Given the description of an element on the screen output the (x, y) to click on. 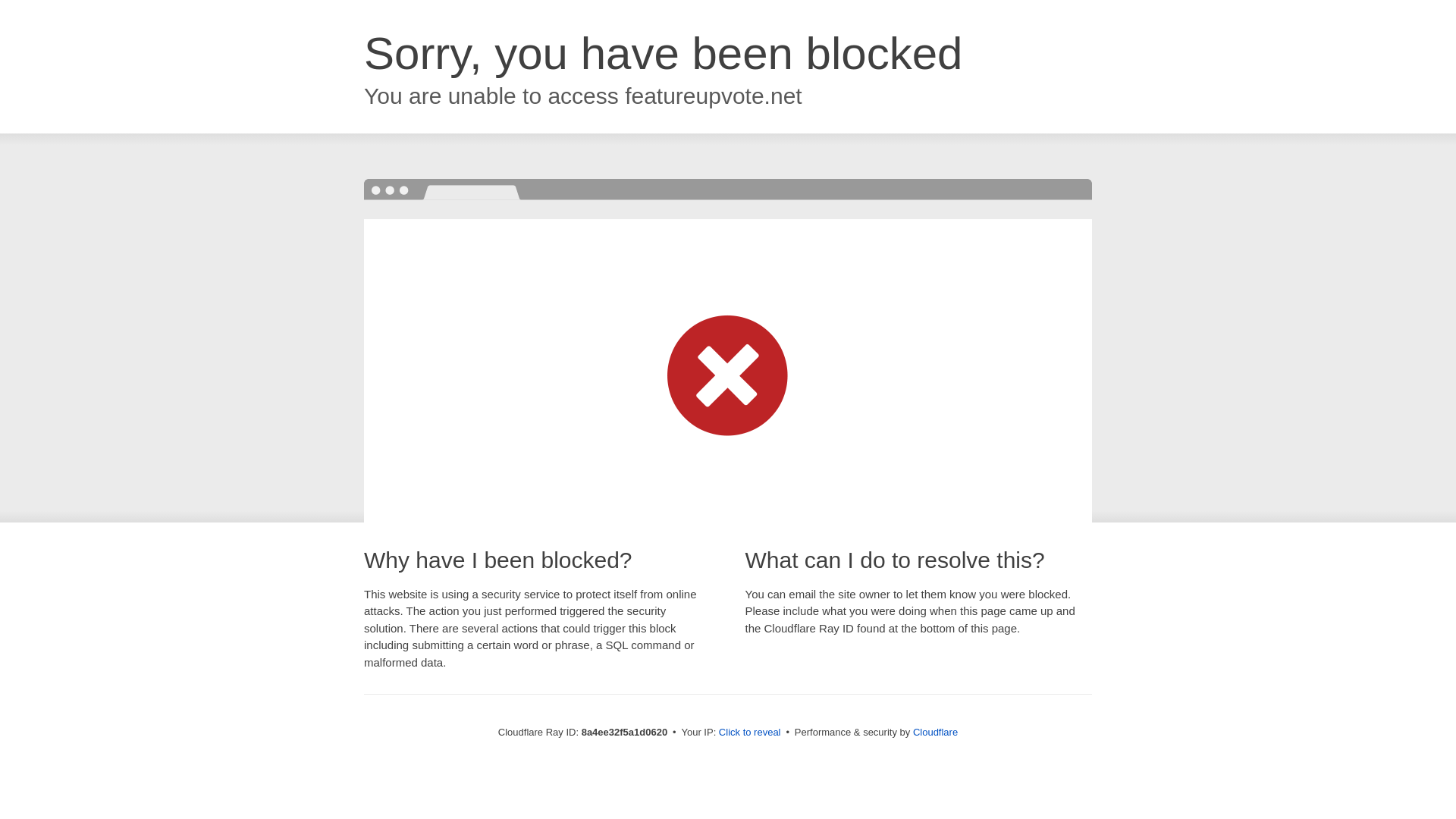
Cloudflare (935, 731)
Click to reveal (749, 732)
